Given the description of an element on the screen output the (x, y) to click on. 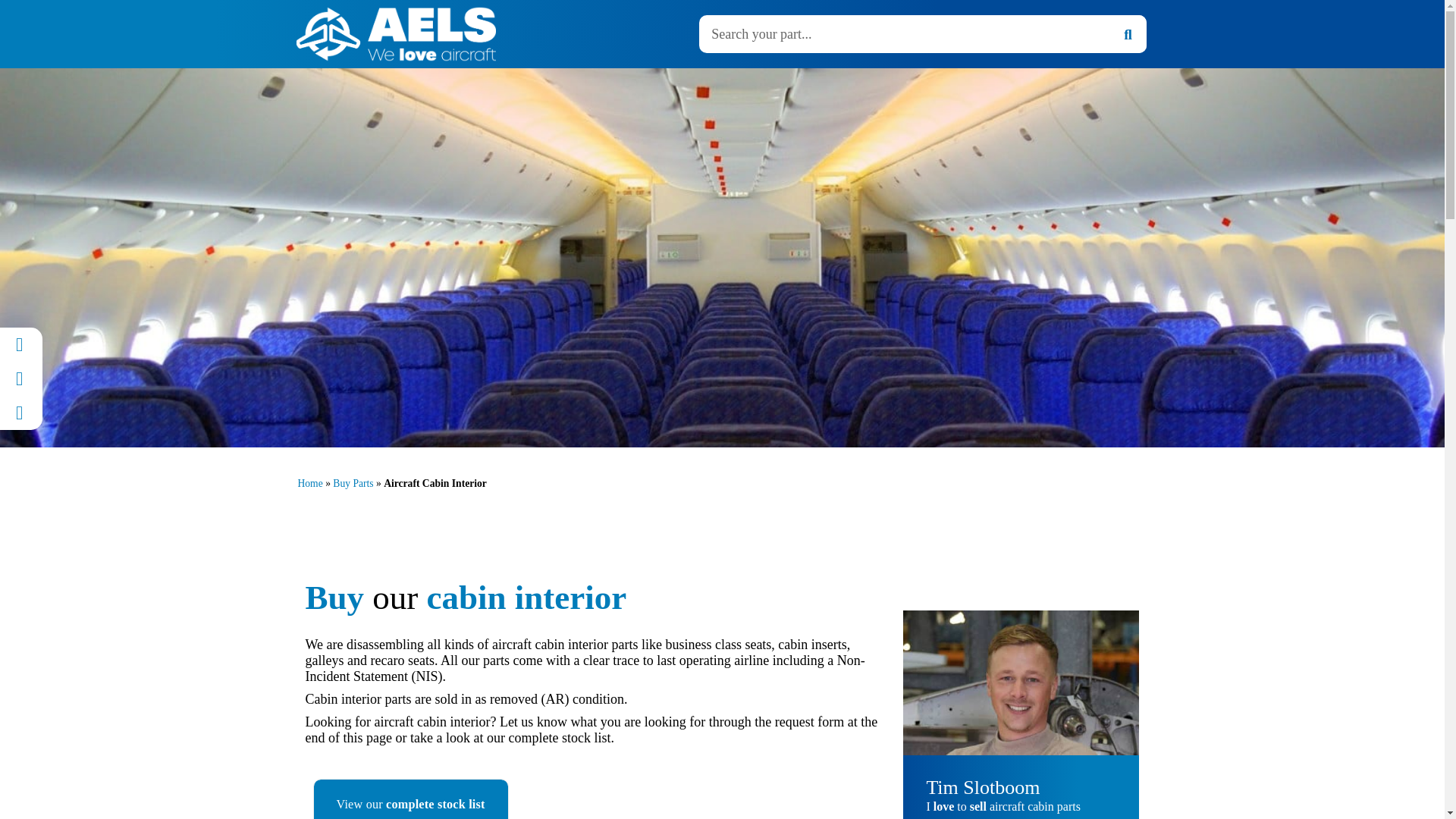
Home (313, 97)
Buy Parts (381, 97)
